Given the description of an element on the screen output the (x, y) to click on. 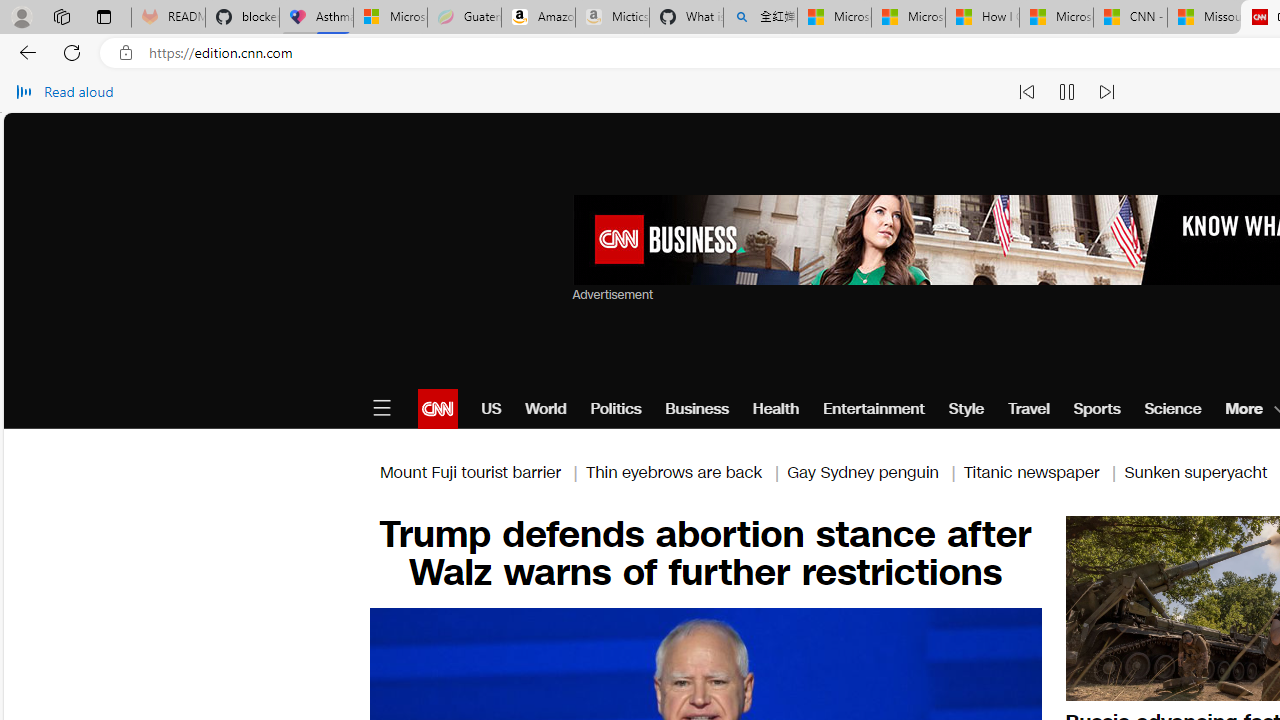
Thin eyebrows are back | (686, 471)
Style (966, 408)
Gay Sydney penguin | (875, 471)
US (491, 408)
